Given the description of an element on the screen output the (x, y) to click on. 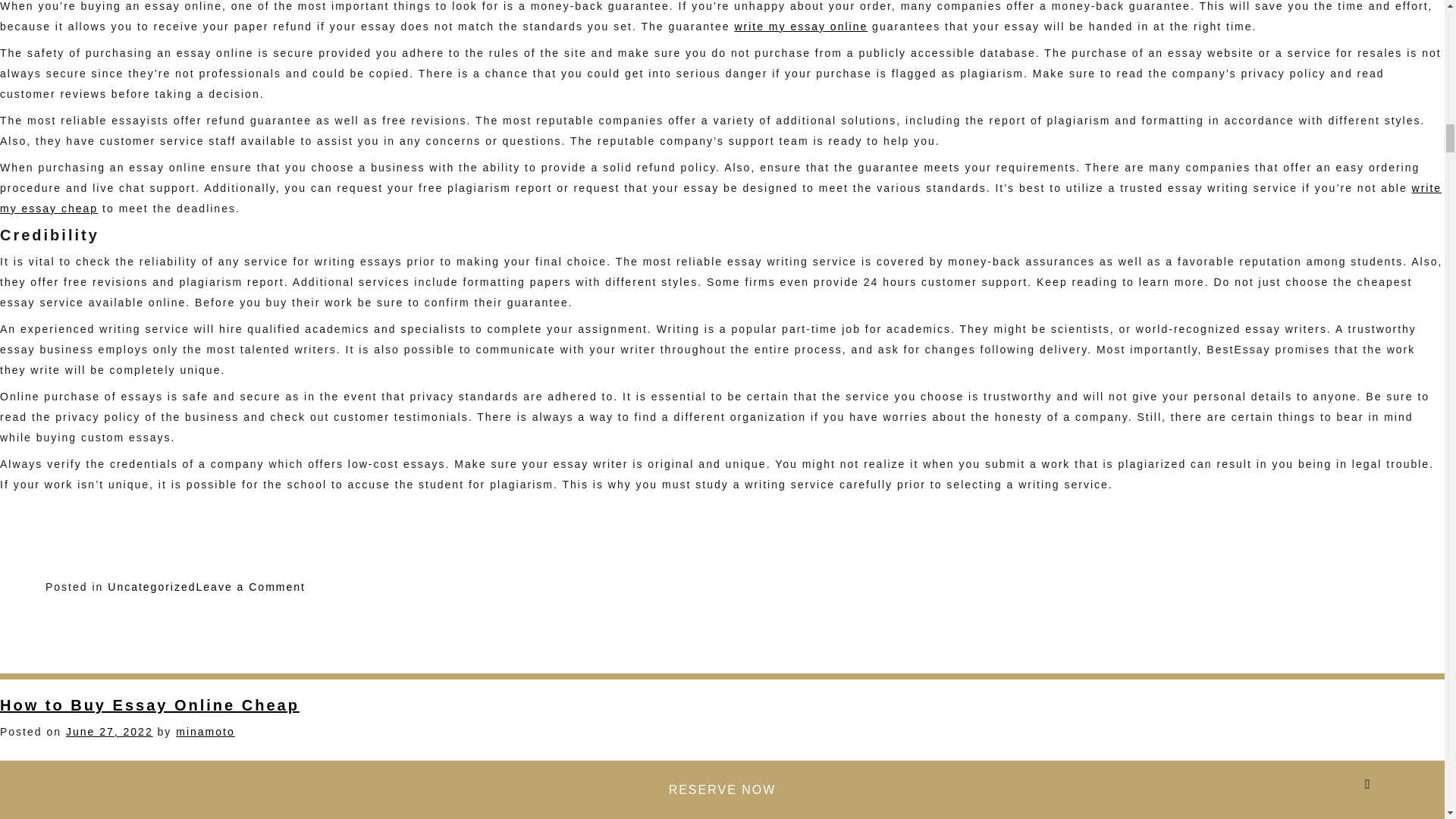
June 27, 2022 (250, 586)
Uncategorized (108, 731)
minamoto (151, 586)
How to Buy Essay Online Cheap (205, 731)
write my essay cheap (149, 704)
write my essay online (720, 197)
